Given the description of an element on the screen output the (x, y) to click on. 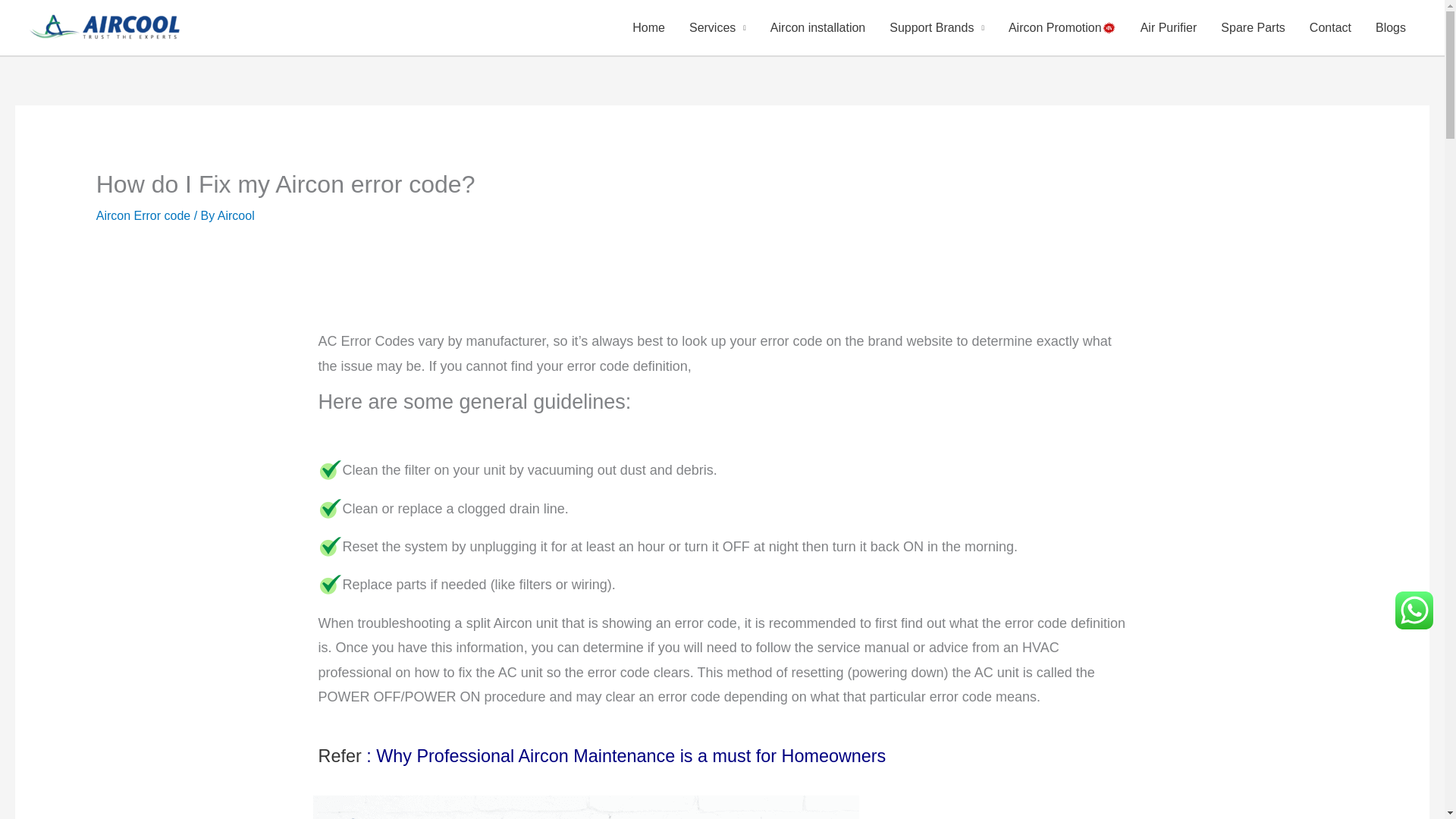
Services (717, 27)
Support Brands (936, 27)
Home (648, 27)
Aircon Error code (586, 807)
Aircon Error code (143, 215)
Why Professional Aircon Maintenance is a must for Homeowners (630, 759)
Blogs (1390, 27)
Air Purifier (1168, 27)
View all posts by Aircool (235, 215)
Spare Parts (1252, 27)
